Given the description of an element on the screen output the (x, y) to click on. 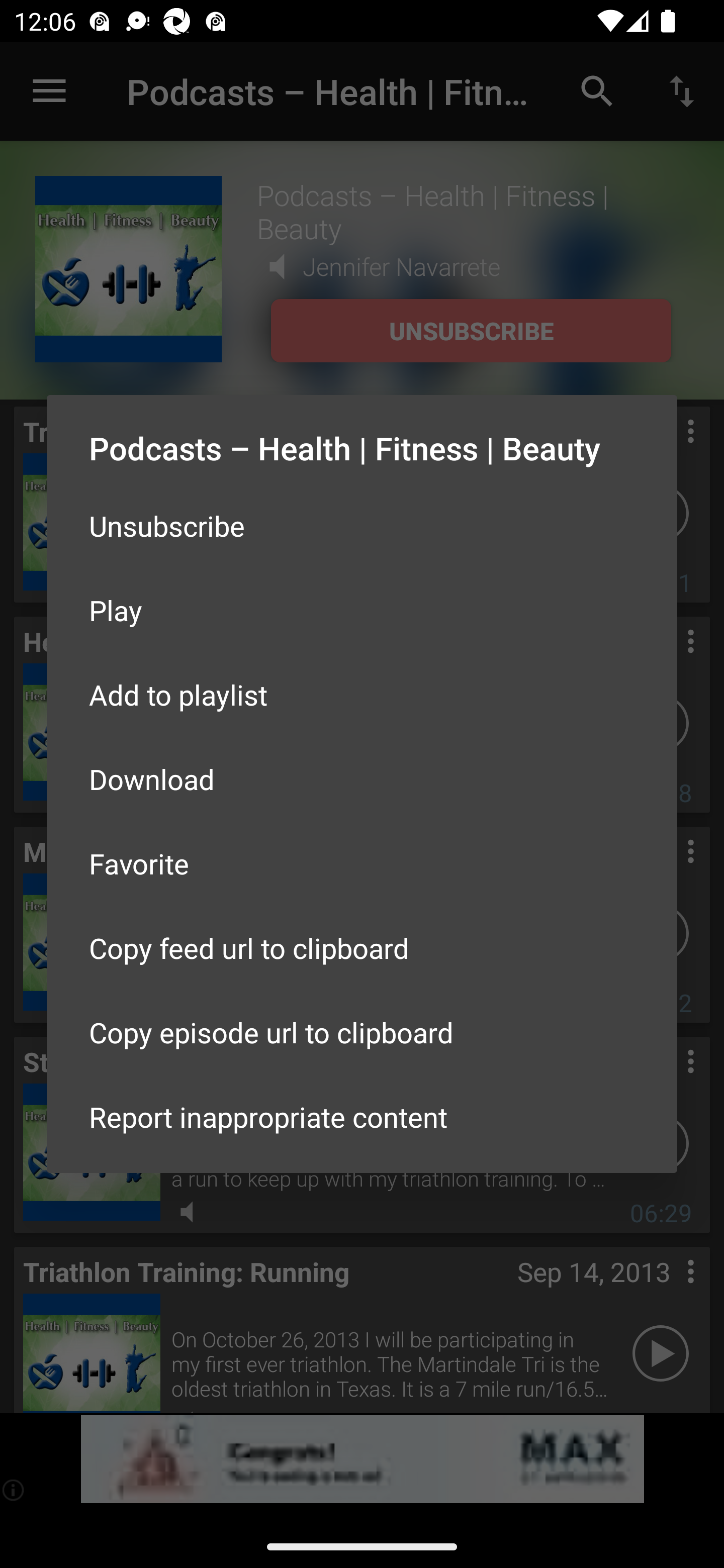
Unsubscribe (361, 524)
Play (361, 609)
Add to playlist (361, 694)
Download (361, 778)
Favorite (361, 863)
Copy feed url to clipboard (361, 947)
Copy episode url to clipboard (361, 1031)
Report inappropriate content (361, 1116)
